Given the description of an element on the screen output the (x, y) to click on. 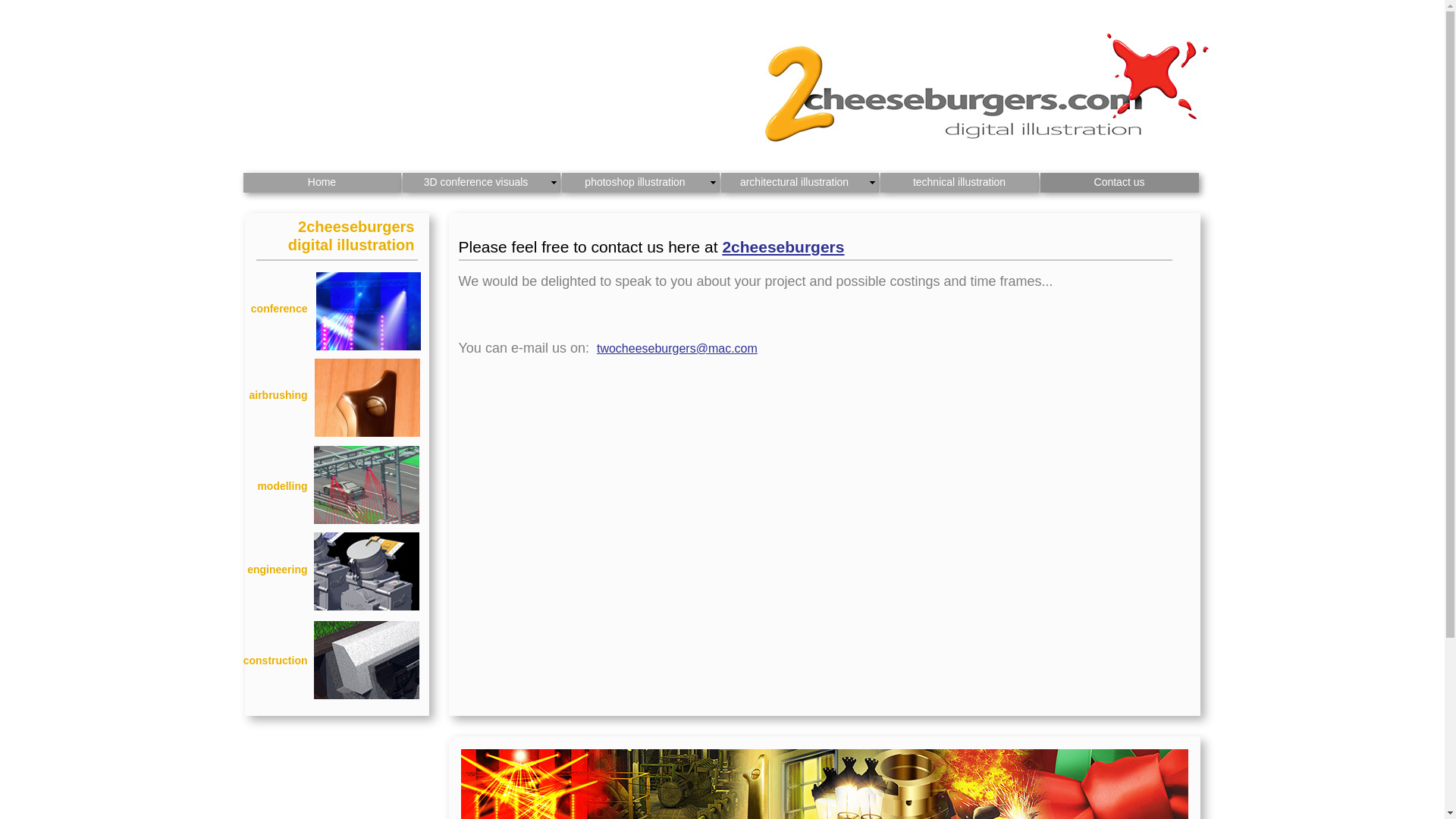
construction Element type: text (270, 668)
conference Element type: text (270, 316)
engineering Element type: text (270, 577)
photoshop illustration Element type: text (639, 182)
technical illustration Element type: text (958, 182)
3D conference visuals Element type: text (480, 182)
airbrushing Element type: text (270, 403)
Contact us Element type: text (1119, 182)
architectural illustration Element type: text (799, 182)
2cheeseburgers Element type: text (782, 246)
Home Element type: text (321, 182)
twocheeseburgers@mac.com Element type: text (676, 347)
modelling Element type: text (270, 494)
